Given the description of an element on the screen output the (x, y) to click on. 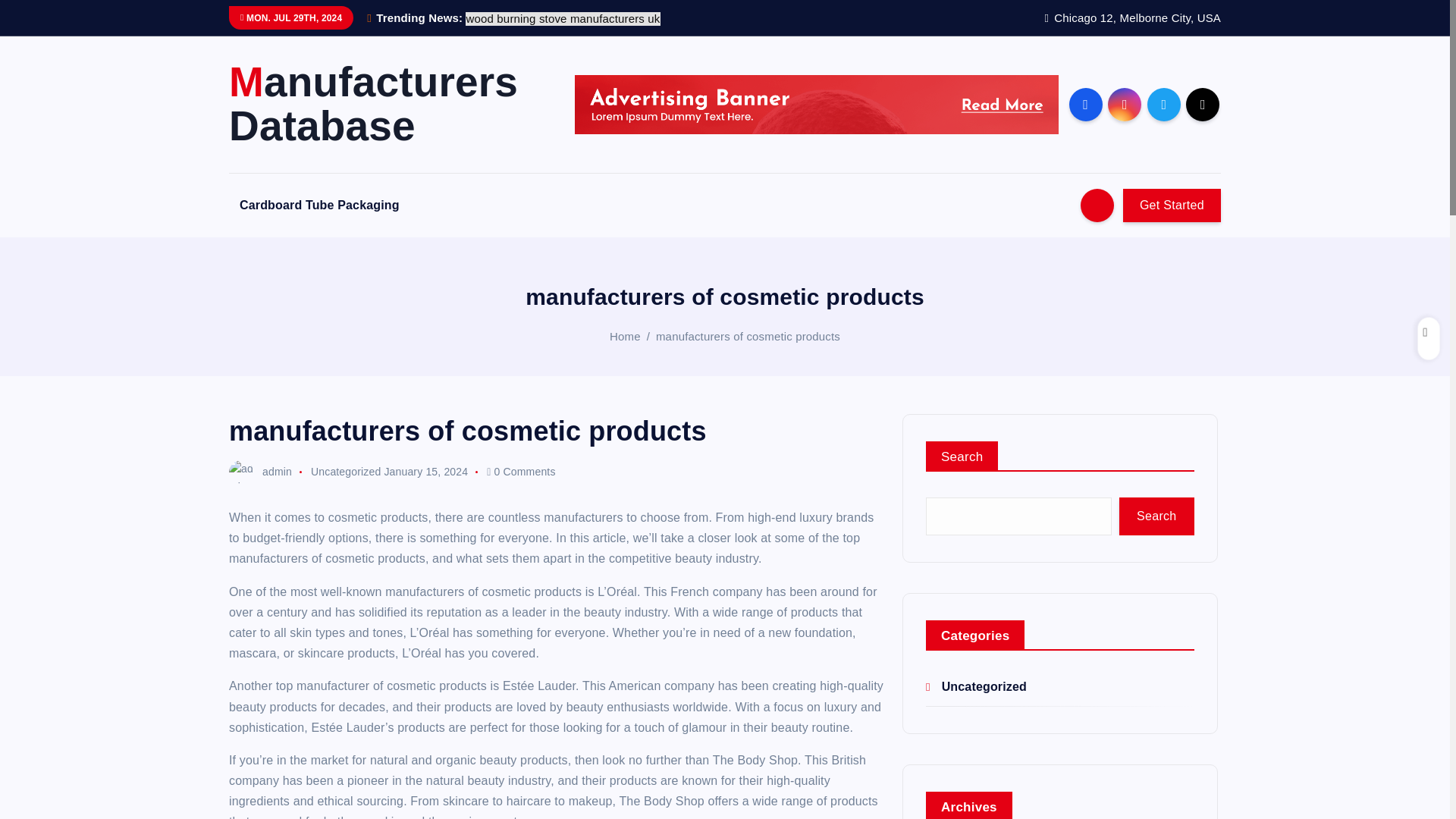
admin (260, 471)
Search (1156, 516)
Cardboard Tube Packaging (319, 205)
Manufacturers Database (387, 104)
Home (625, 335)
Get Started (1171, 204)
manufacturers of cosmetic products (748, 335)
Uncategorized (345, 471)
Cardboard Tube Packaging (319, 205)
Uncategorized (976, 686)
